Given the description of an element on the screen output the (x, y) to click on. 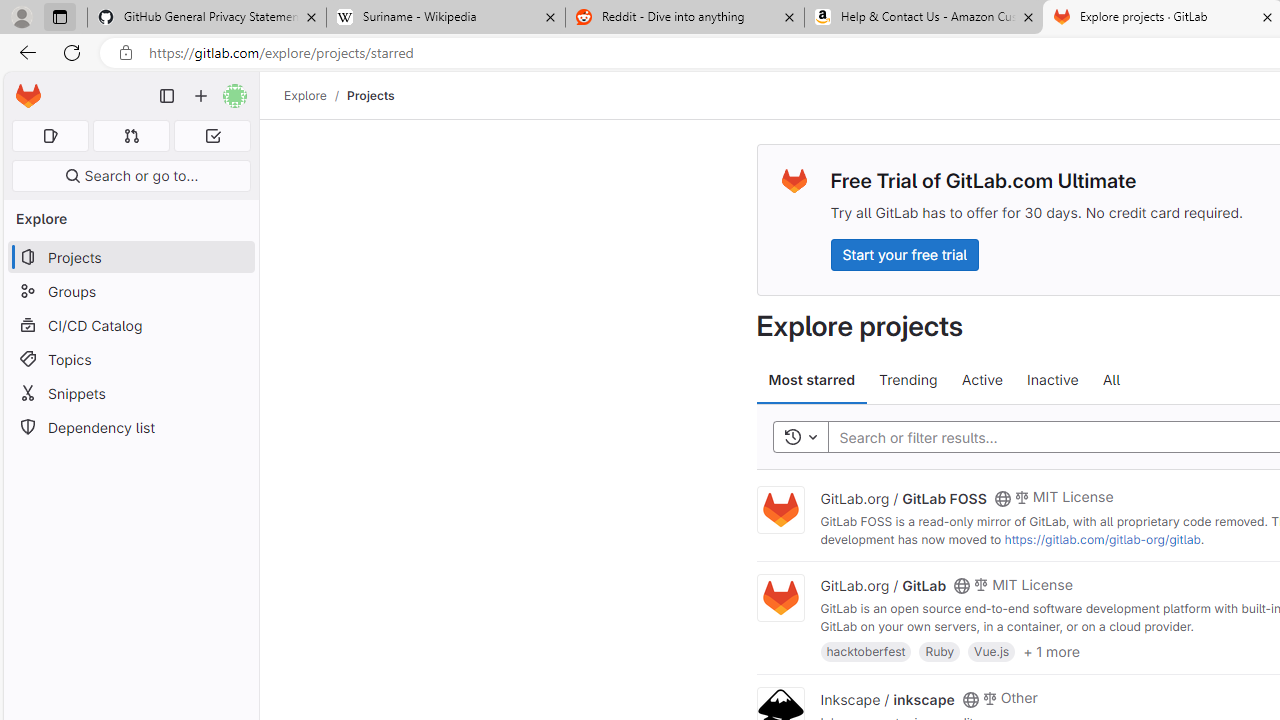
Projects (370, 95)
https://gitlab.com/gitlab-org/gitlab (1101, 539)
Class: s14 gl-mr-2 (989, 696)
GitLab.org / GitLab (883, 585)
Dependency list (130, 427)
Vue.js (991, 650)
Ruby (940, 650)
CI/CD Catalog (130, 325)
Start your free trial (904, 254)
Active (982, 379)
Help & Contact Us - Amazon Customer Service (924, 17)
Snippets (130, 393)
Groups (130, 291)
To-Do list 0 (212, 136)
